Given the description of an element on the screen output the (x, y) to click on. 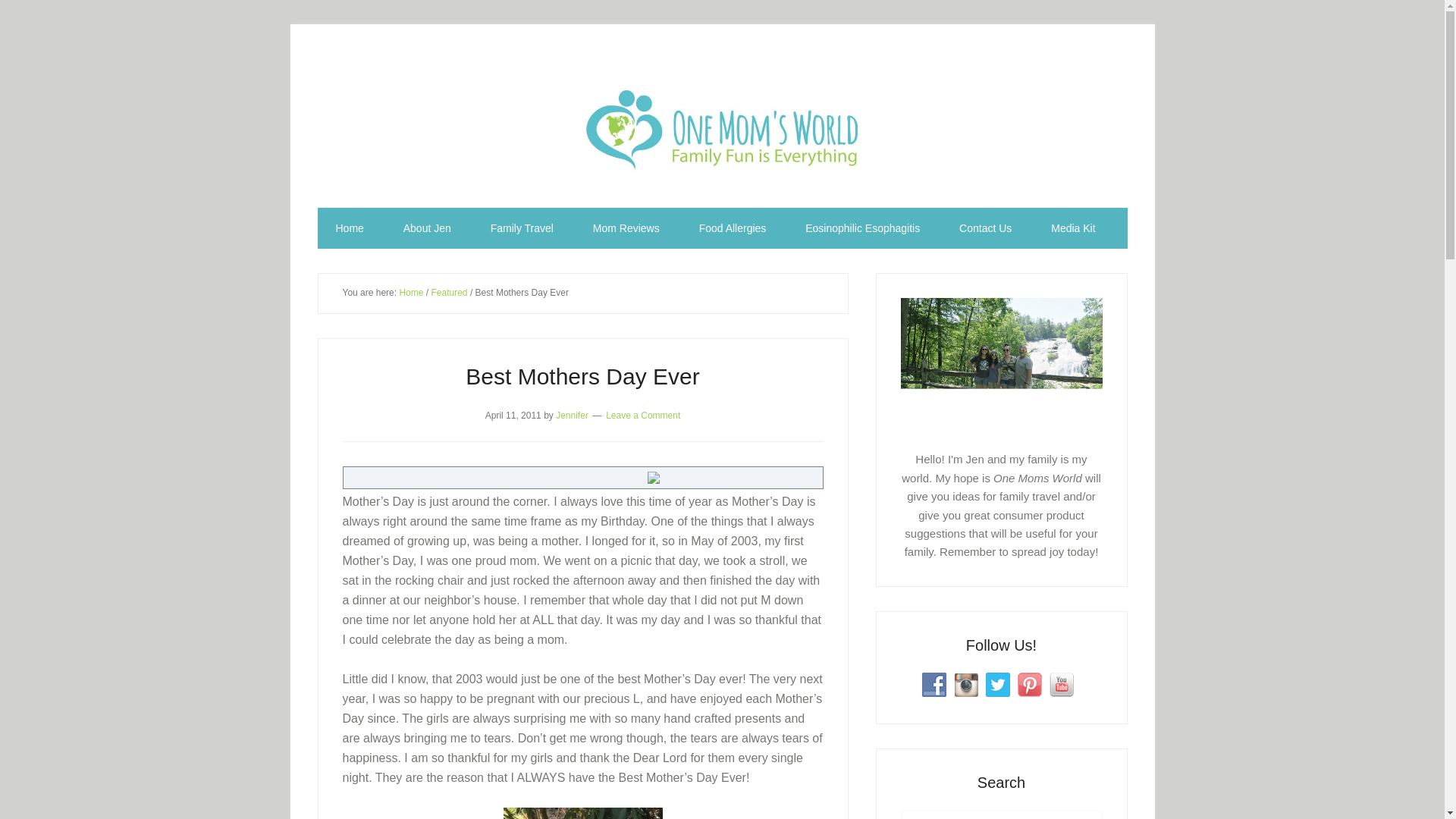
Eosinophilic Esophagitis (862, 228)
Follow Us on YouTube (1061, 684)
Mom Reviews (626, 228)
Leave a Comment (642, 414)
Featured (448, 292)
Follow Us on Twitter (997, 684)
About Jen (426, 228)
Follow Us on Pinterest (1029, 684)
One Moms World and Girls (582, 813)
